Given the description of an element on the screen output the (x, y) to click on. 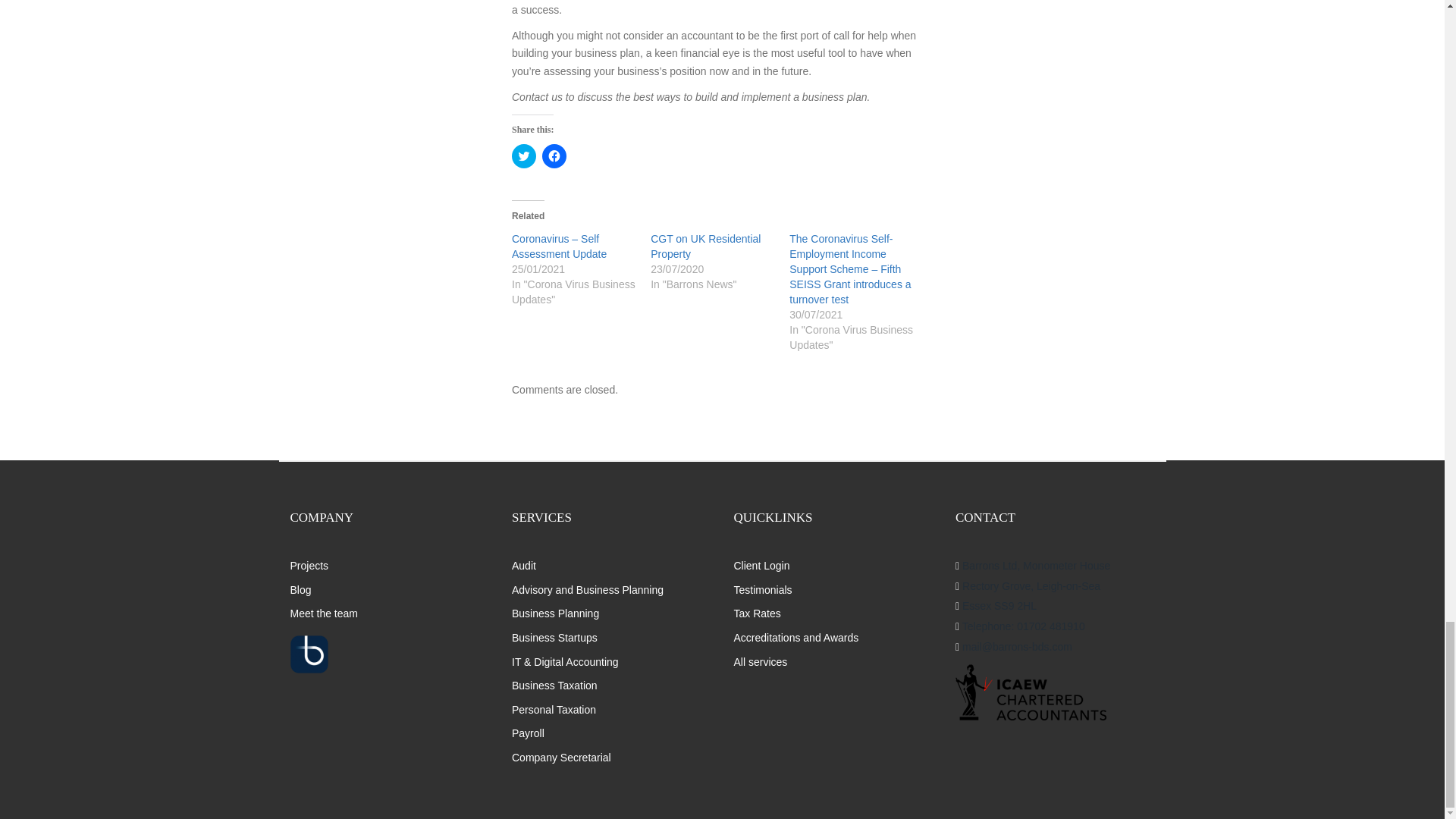
CGT on UK Residential Property (705, 246)
Click to share on Twitter (523, 156)
Click to share on Facebook (553, 156)
